Given the description of an element on the screen output the (x, y) to click on. 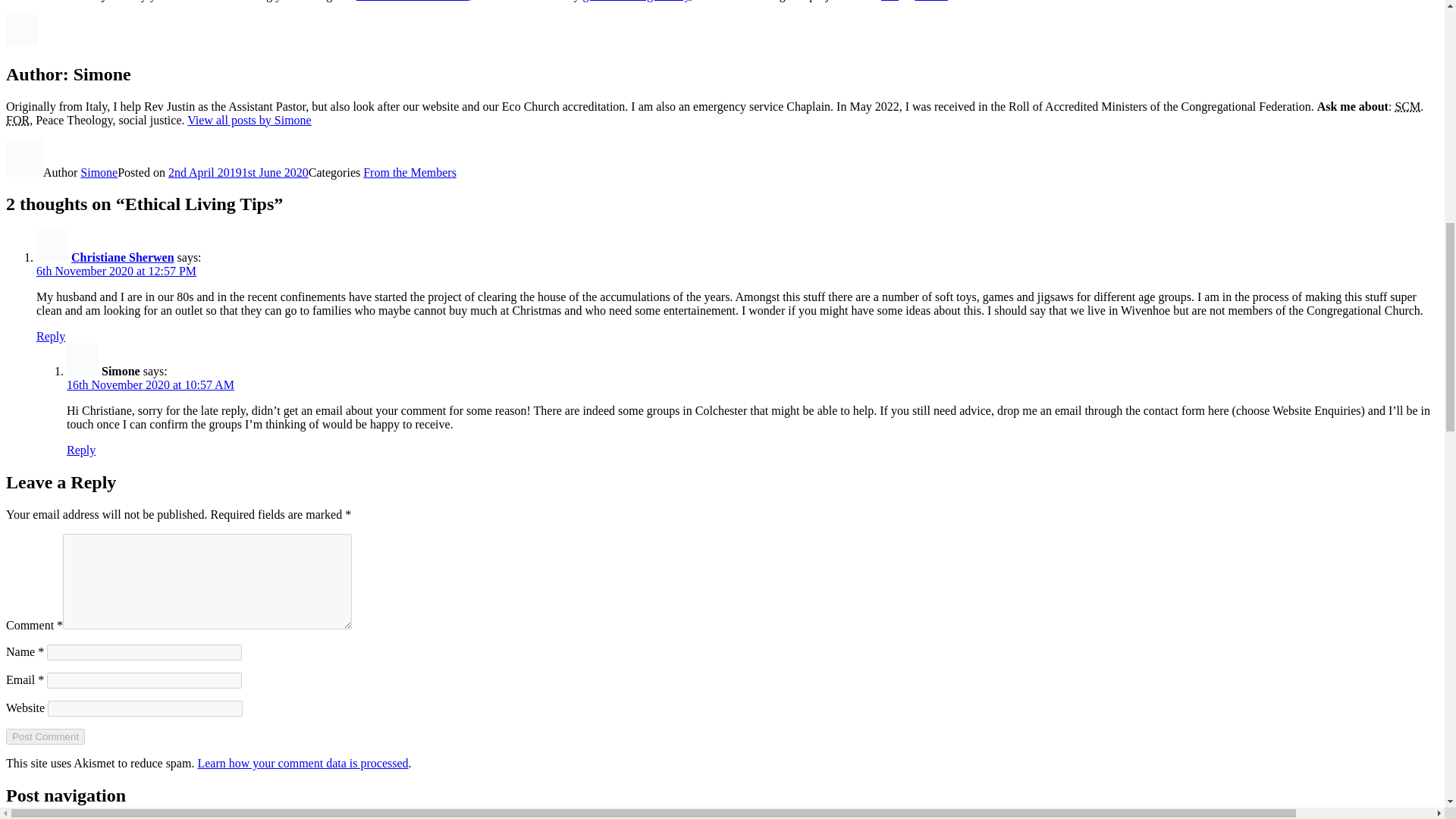
16th November 2020 at 10:57 AM (150, 384)
The Student Christian Movement (1407, 106)
The Fellowship of Reconciliation (17, 119)
View all posts by Simone (249, 119)
2nd April 20191st June 2020 (238, 171)
6th November 2020 at 12:57 PM (116, 270)
Simone (98, 171)
Post Comment (44, 736)
Reply (50, 336)
abroad (930, 0)
